Given the description of an element on the screen output the (x, y) to click on. 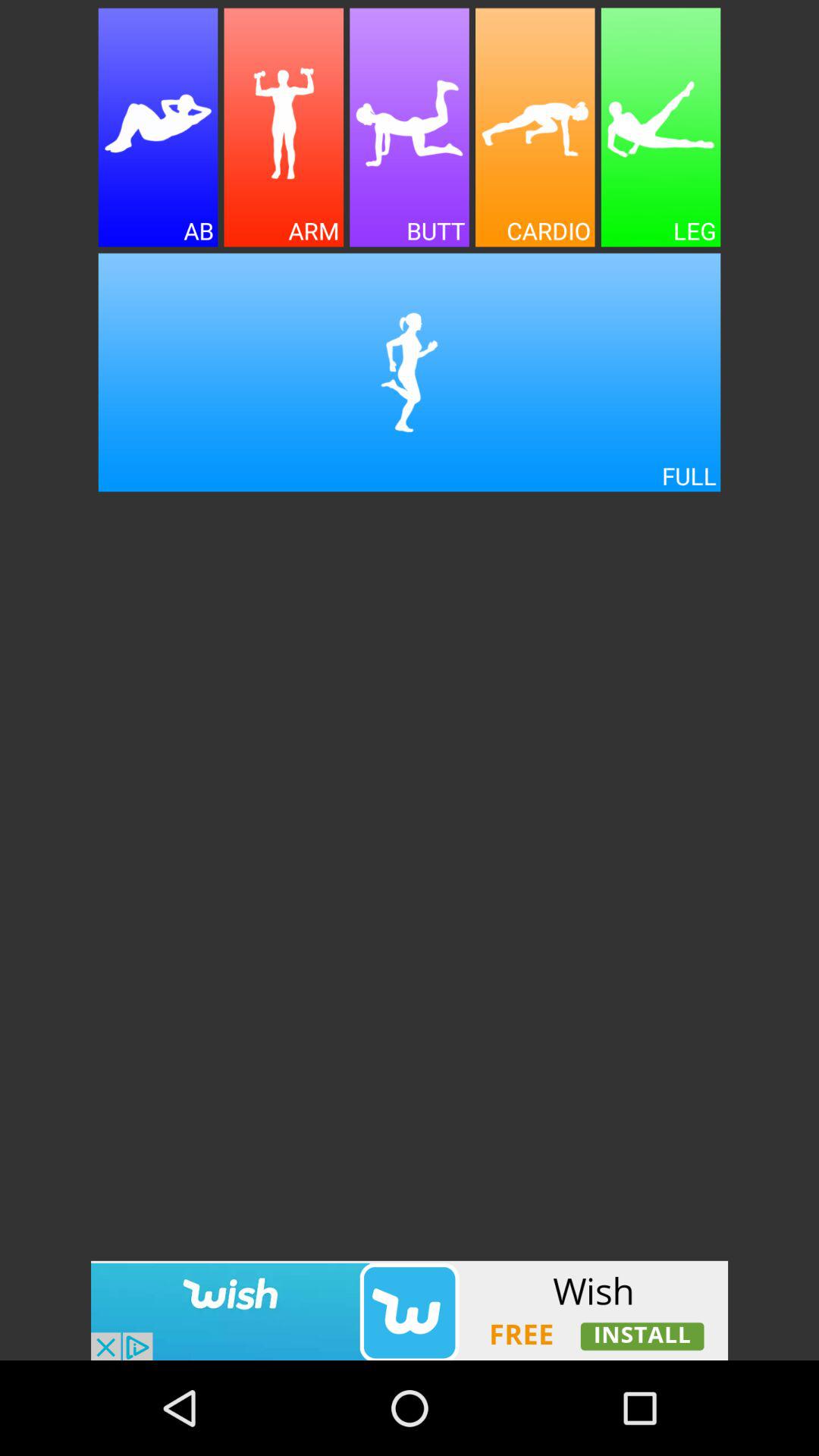
open the butt exercise function (409, 126)
